Given the description of an element on the screen output the (x, y) to click on. 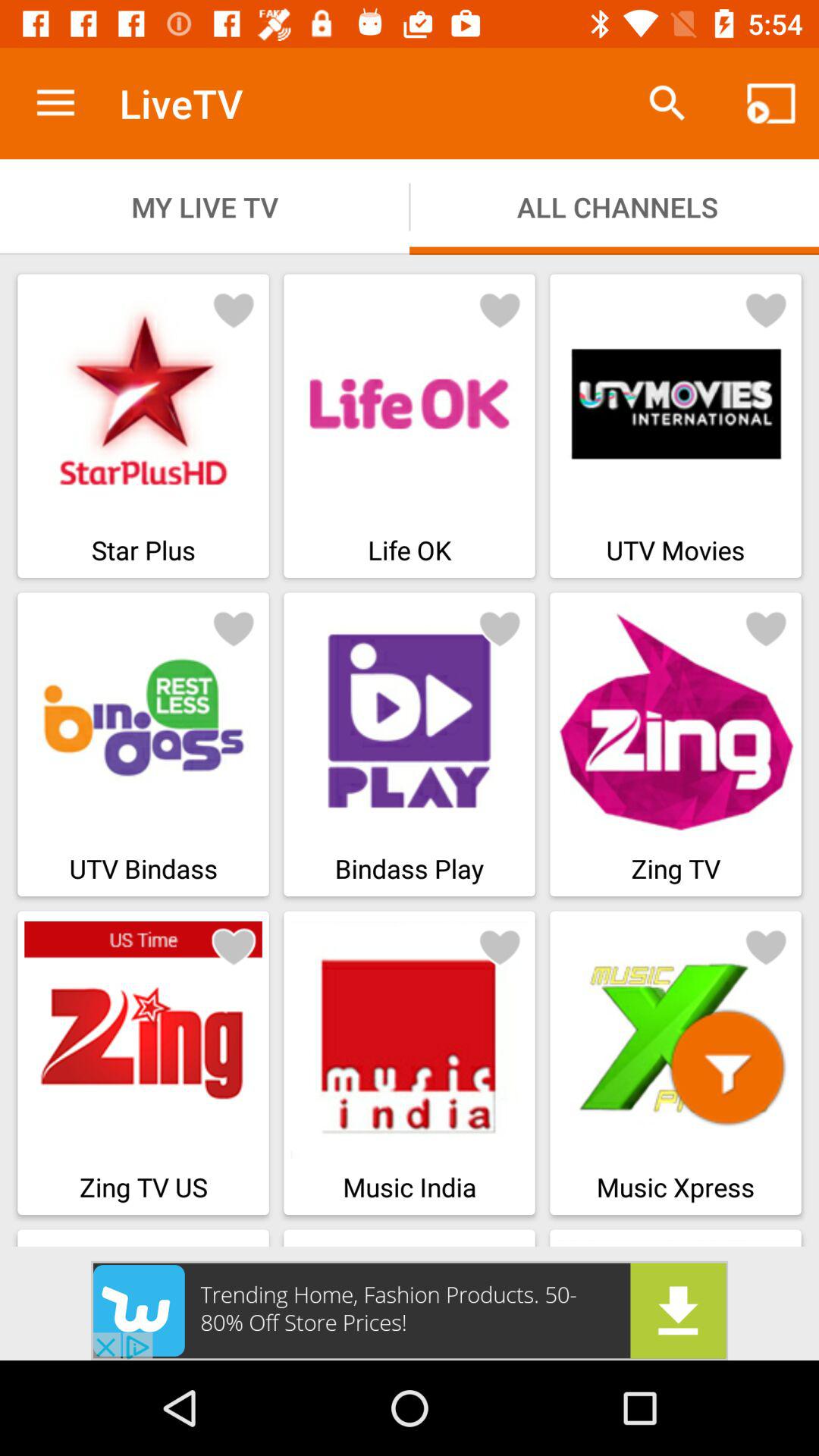
like (499, 946)
